Given the description of an element on the screen output the (x, y) to click on. 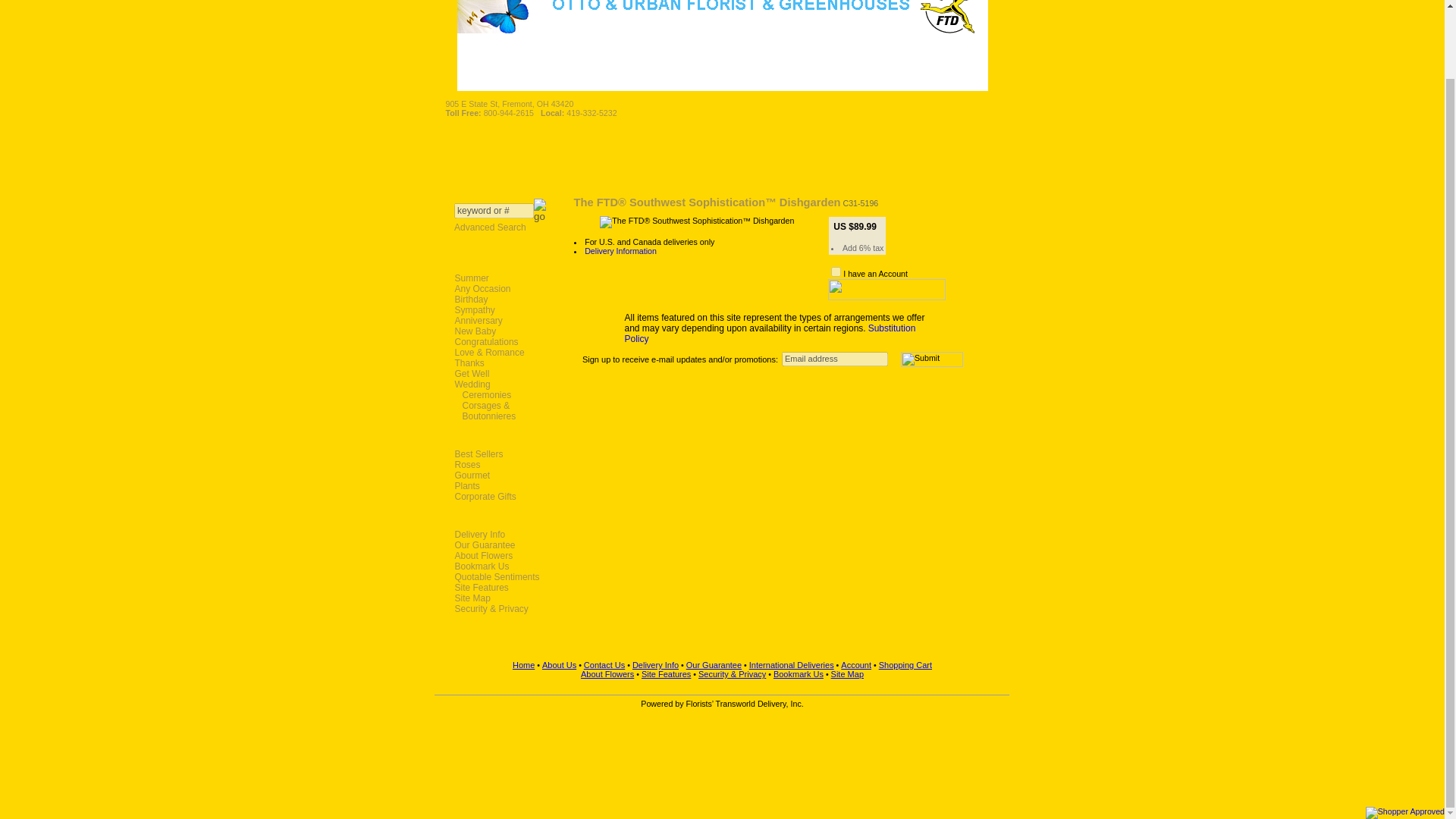
Sympathy (500, 309)
Roses (500, 464)
Delivery Info (500, 534)
Thanks (500, 362)
Corporate Gifts (500, 496)
About Flowers (500, 555)
Birthday (500, 299)
Ceremonies (508, 394)
Advanced Search (491, 226)
Site Features (500, 587)
